Given the description of an element on the screen output the (x, y) to click on. 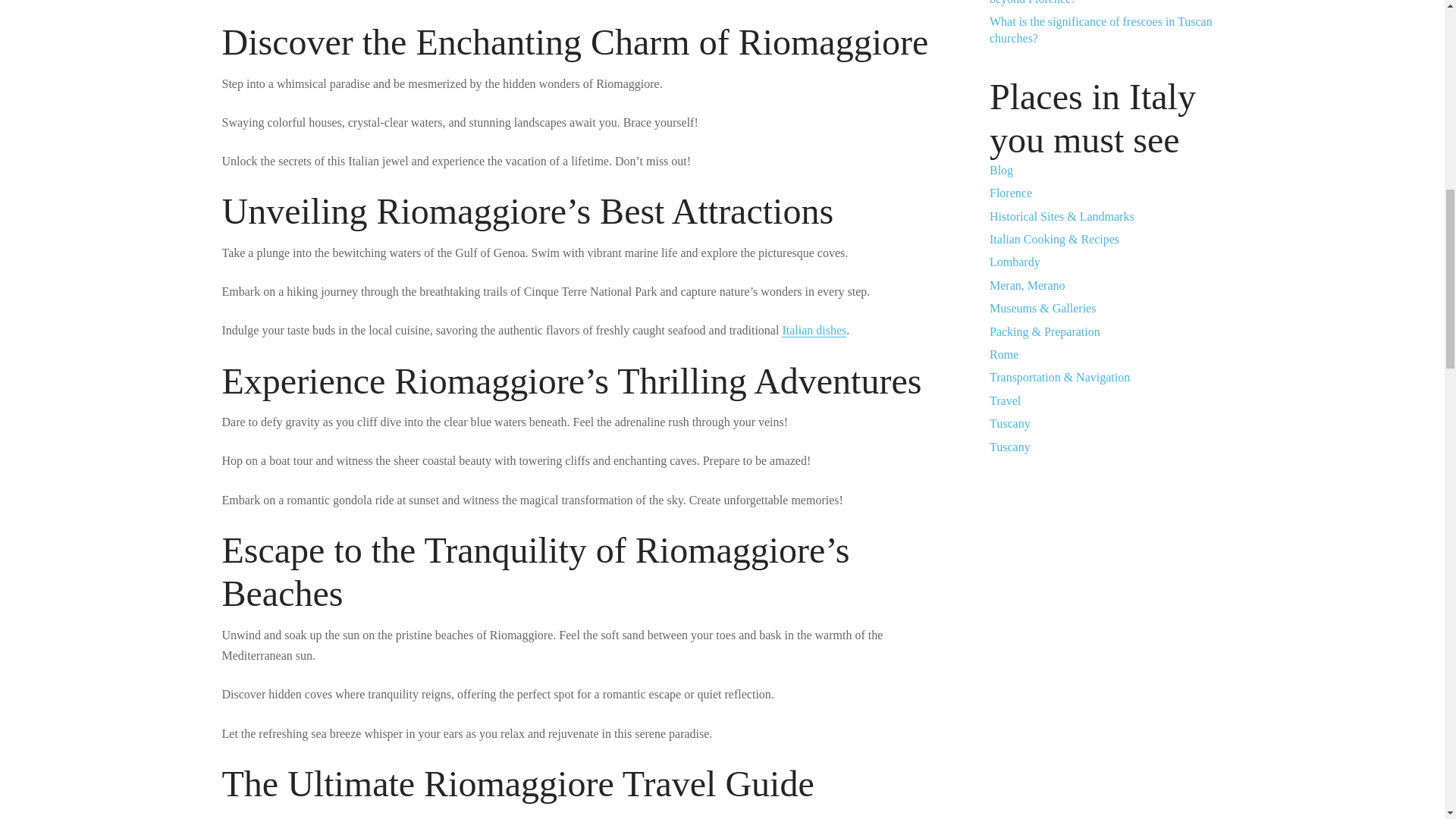
Italian dishes (813, 330)
Florence (1011, 192)
Blog (1001, 169)
Italian Side Dishes: Perfect Companions to Your Main Course (813, 330)
What is the significance of frescoes in Tuscan churches? (1101, 30)
